Given the description of an element on the screen output the (x, y) to click on. 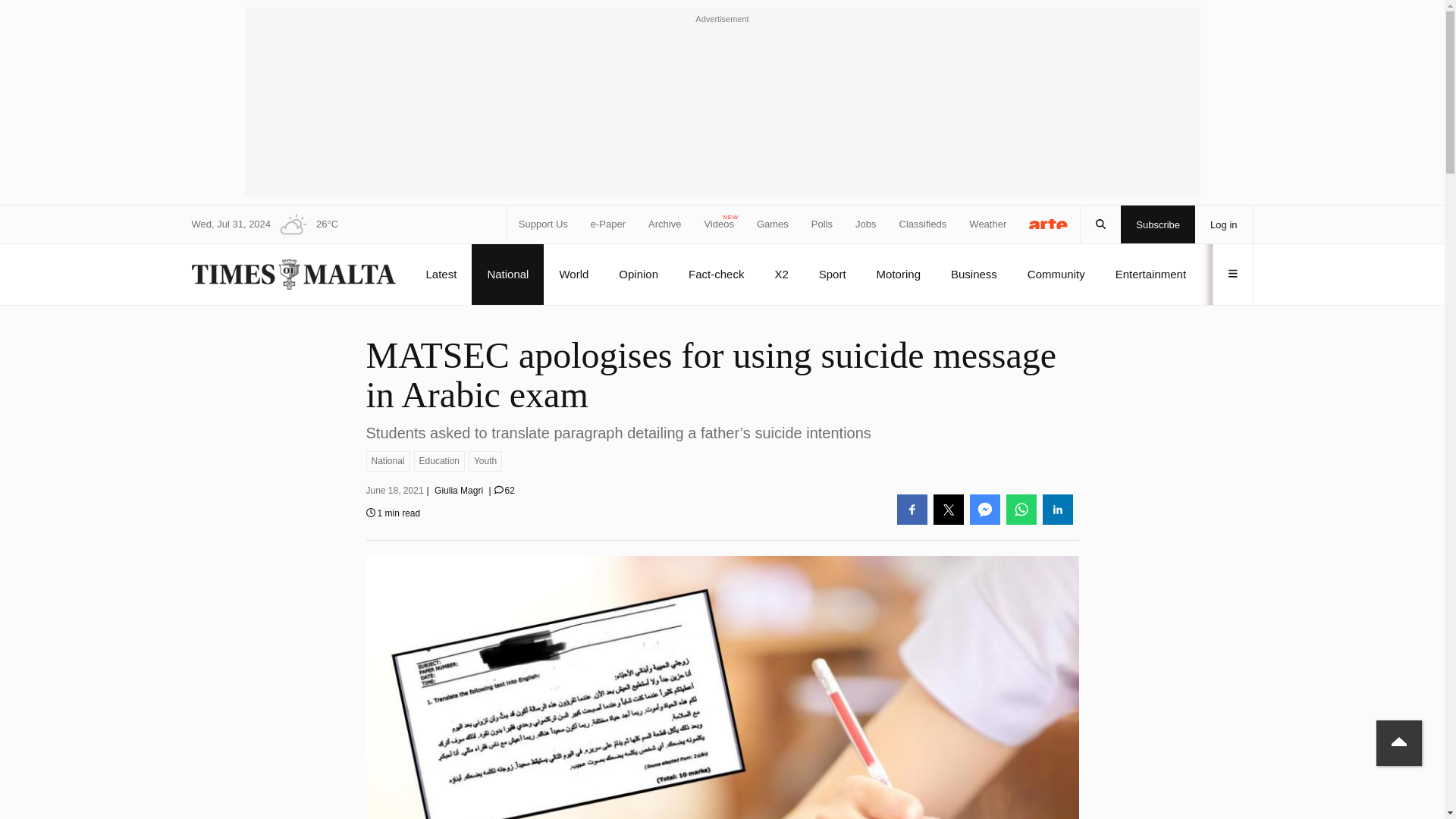
Classifieds (923, 224)
View more articles by Giulia Magri (458, 490)
Giulia Magri (458, 490)
Support Us (542, 224)
Entertainment (1150, 274)
Weather (987, 224)
Subscribe (1158, 224)
Log in (1223, 224)
National (387, 461)
62 (505, 490)
Additional weather information (303, 224)
Youth (485, 461)
